Given the description of an element on the screen output the (x, y) to click on. 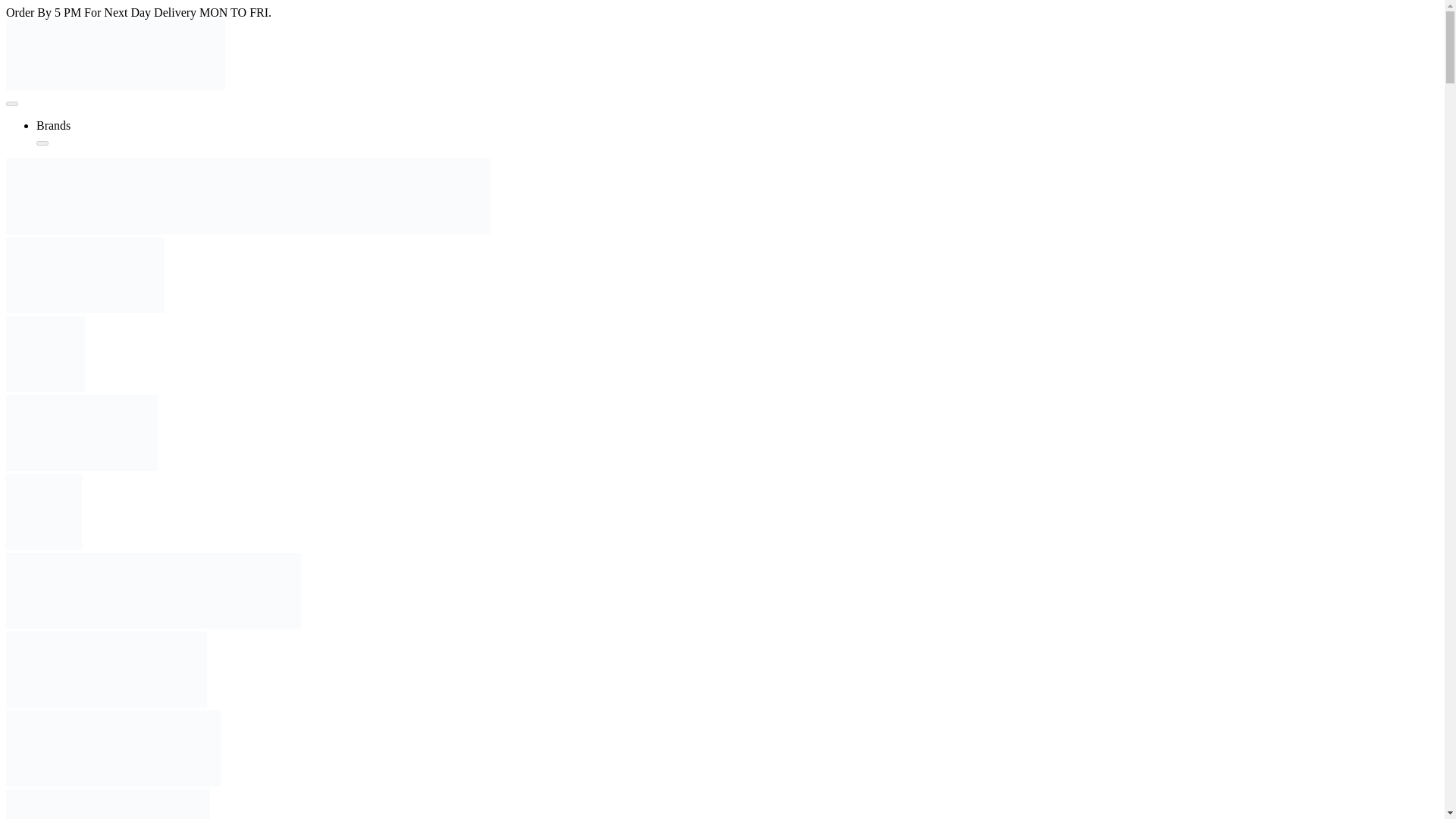
drink me chai.png (43, 511)
pro whip 1.png (105, 669)
zuma.png (107, 804)
ibc simply.png (84, 274)
boba lish.png (44, 354)
20 1.png (81, 432)
